Given the description of an element on the screen output the (x, y) to click on. 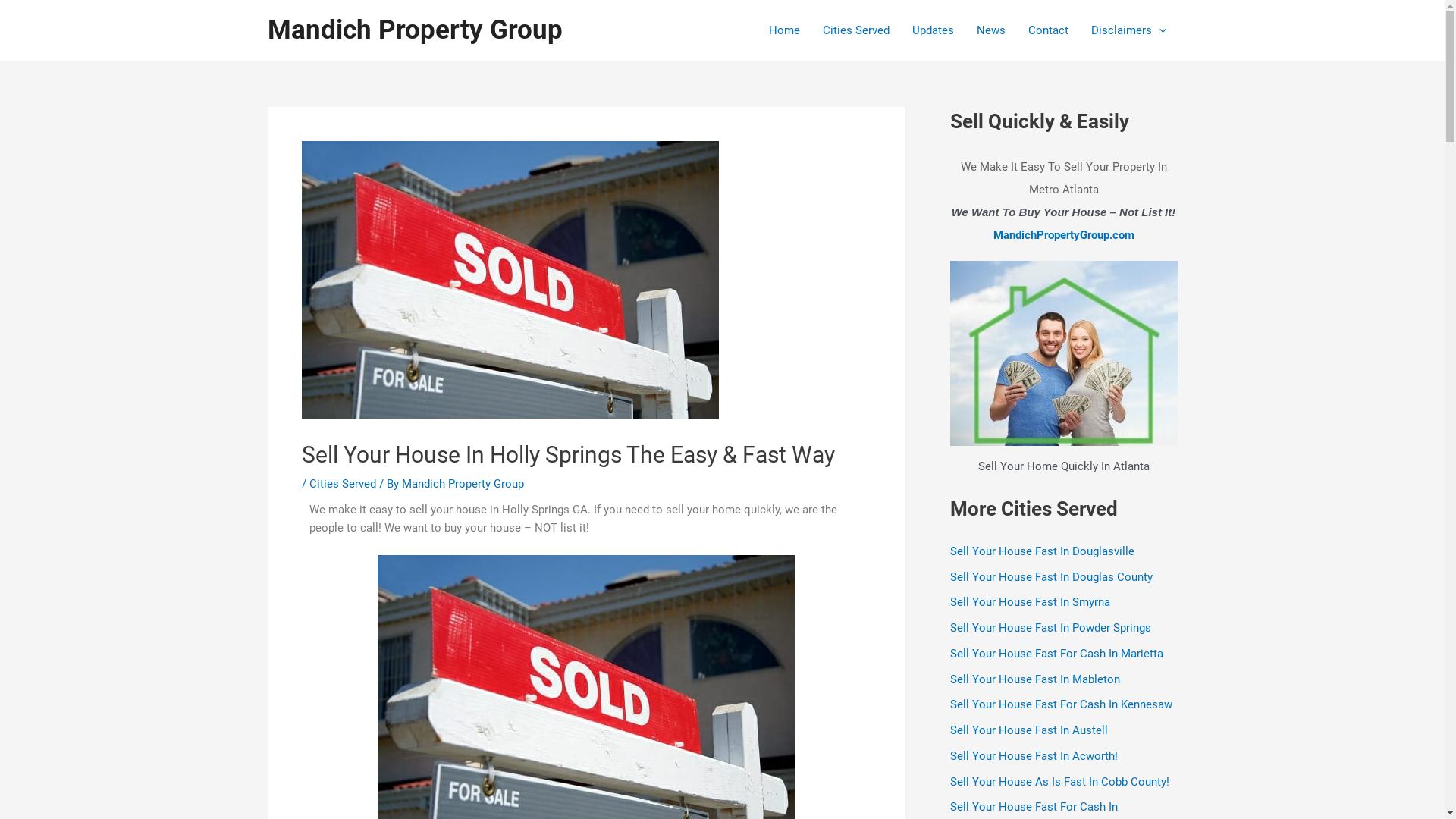
Cities Served Element type: text (855, 30)
Sell Your House Fast In Douglasville Element type: text (1041, 551)
Sell Your House Fast In Powder Springs Element type: text (1049, 627)
Mandich Property Group Element type: text (462, 483)
Sell Your House Fast For Cash In Kennesaw Element type: text (1060, 704)
Mandich Property Group Element type: text (413, 29)
Home Element type: text (783, 30)
Disclaimers Element type: text (1128, 30)
Sell Your House Fast In Mableton Element type: text (1034, 679)
Contact Element type: text (1047, 30)
Cities Served Element type: text (342, 483)
Updates Element type: text (932, 30)
Sell Your House As Is Fast In Cobb County! Element type: text (1058, 781)
Sell Your House Fast In Douglas County Element type: text (1050, 576)
Sell Your House Fast In Austell Element type: text (1028, 730)
Sell Your House Fast For Cash In Marietta Element type: text (1055, 653)
Sell Your House Fast In Acworth! Element type: text (1033, 755)
MandichPropertyGroup.com Element type: text (1063, 234)
Sell Your House Fast In Smyrna Element type: text (1029, 601)
News Element type: text (990, 30)
